Given the description of an element on the screen output the (x, y) to click on. 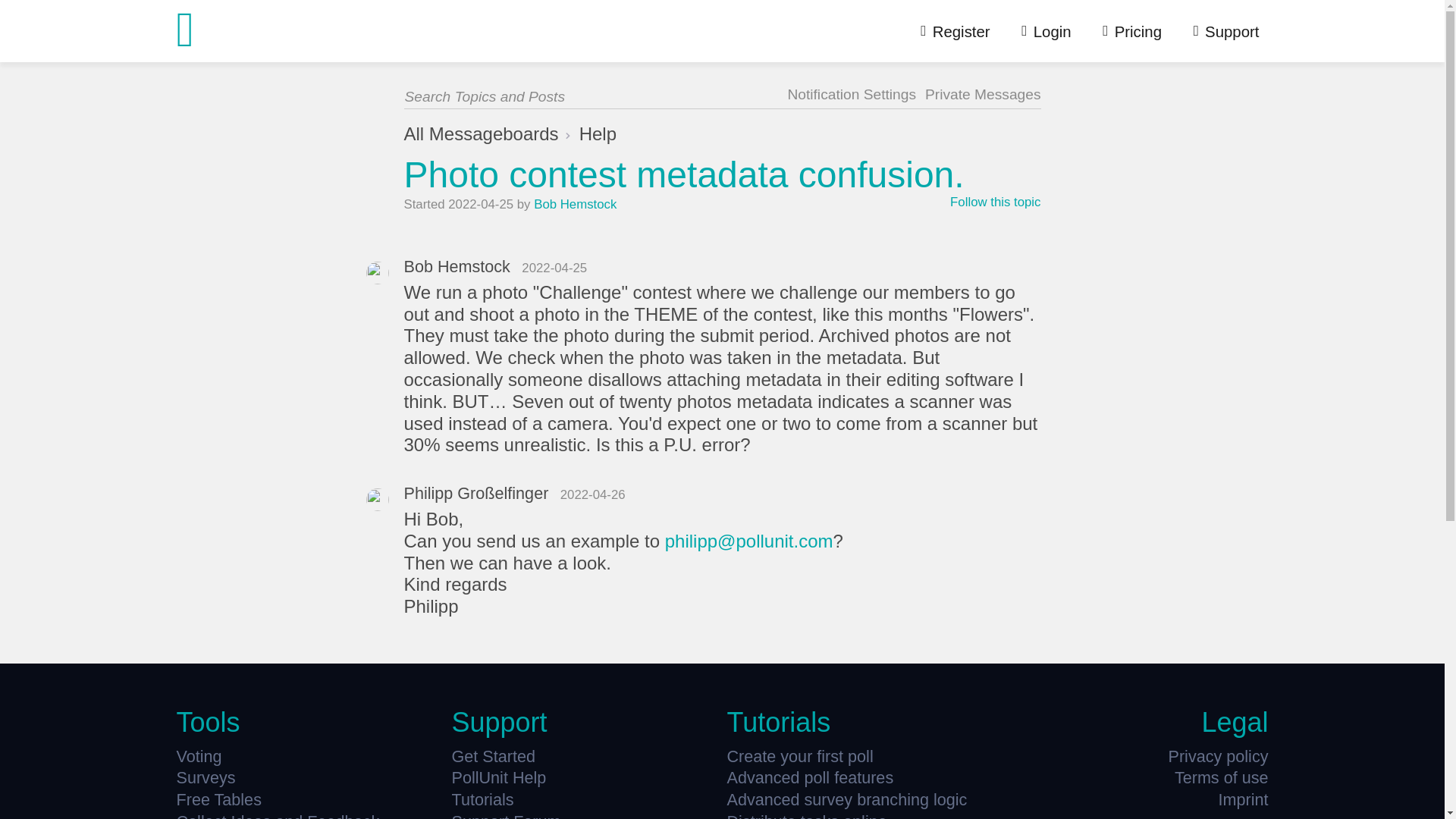
PollUnit Help (584, 777)
Follow this topic (995, 202)
Notification Settings (851, 94)
Help (597, 133)
Get Started (584, 756)
Bob Hemstock (456, 266)
2022-04-26 06:19 AM UTC (593, 494)
Voting (309, 756)
Login (1037, 31)
All Messageboards (480, 133)
Tutorials (584, 799)
Follow this topic (995, 202)
Support (1217, 31)
Register (946, 31)
Pricing (1122, 31)
